Given the description of an element on the screen output the (x, y) to click on. 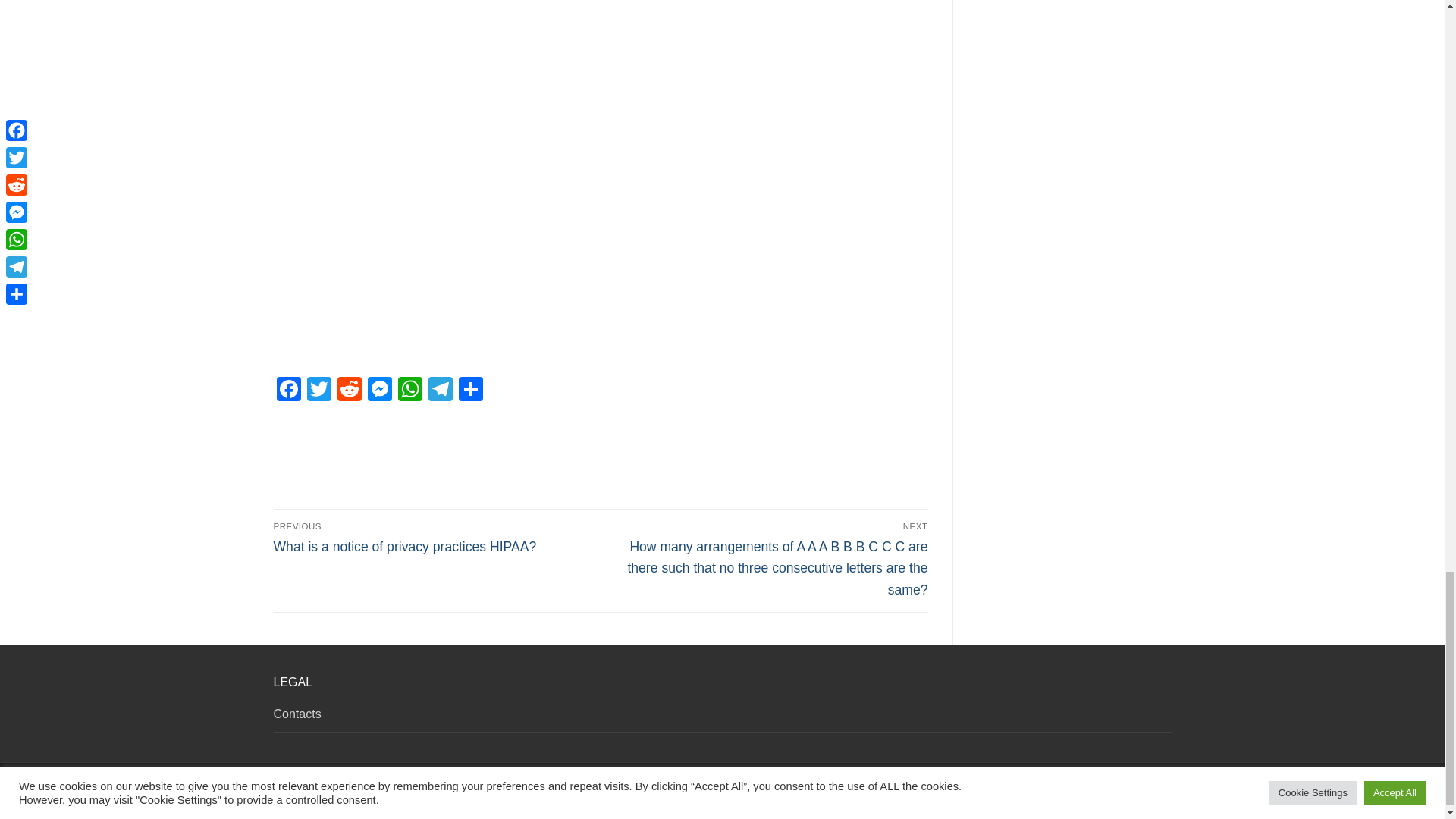
Facebook (287, 390)
WhatsApp (409, 390)
Facebook (287, 390)
Twitter (317, 390)
Reddit (348, 390)
Reddit (348, 390)
WhatsApp (409, 390)
Messenger (379, 390)
Twitter (317, 390)
Telegram (439, 390)
Telegram (439, 390)
Messenger (379, 390)
